Given the description of an element on the screen output the (x, y) to click on. 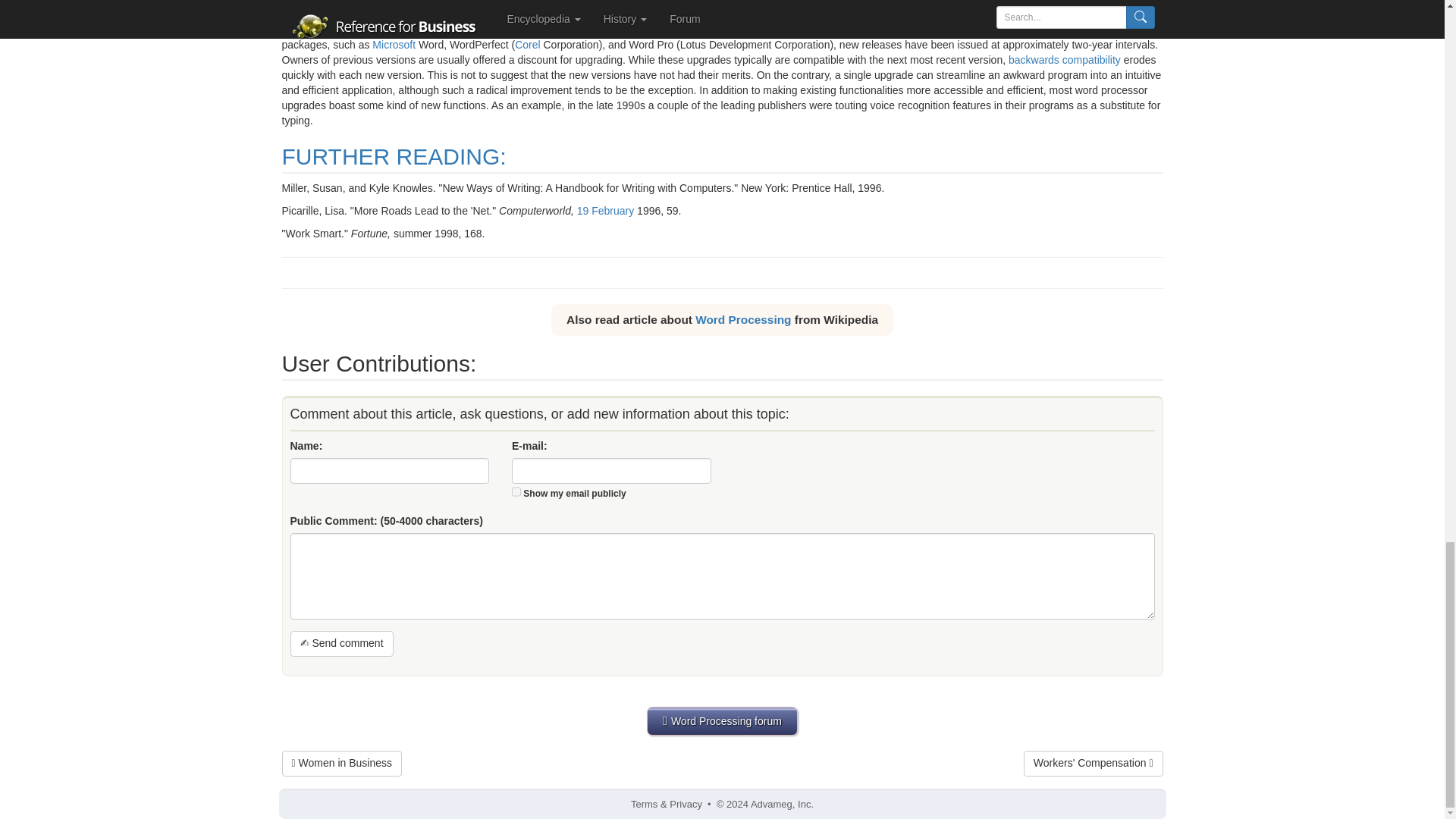
View '19 february' definition from Wikipedia (604, 210)
Women in Business (341, 763)
View 'corel' definition from Wikipedia (527, 44)
View 'backwards compatibility' definition from Wikipedia (1065, 60)
backwards compatibility (1065, 60)
FURTHER READING: (394, 156)
Word Processing (742, 318)
Corel (527, 44)
View 'microsoft' definition from Wikipedia (393, 44)
Microsoft (393, 44)
1 (516, 491)
Workers' Compensation (1093, 763)
19 February (604, 210)
Word Processing forum (721, 720)
